Given the description of an element on the screen output the (x, y) to click on. 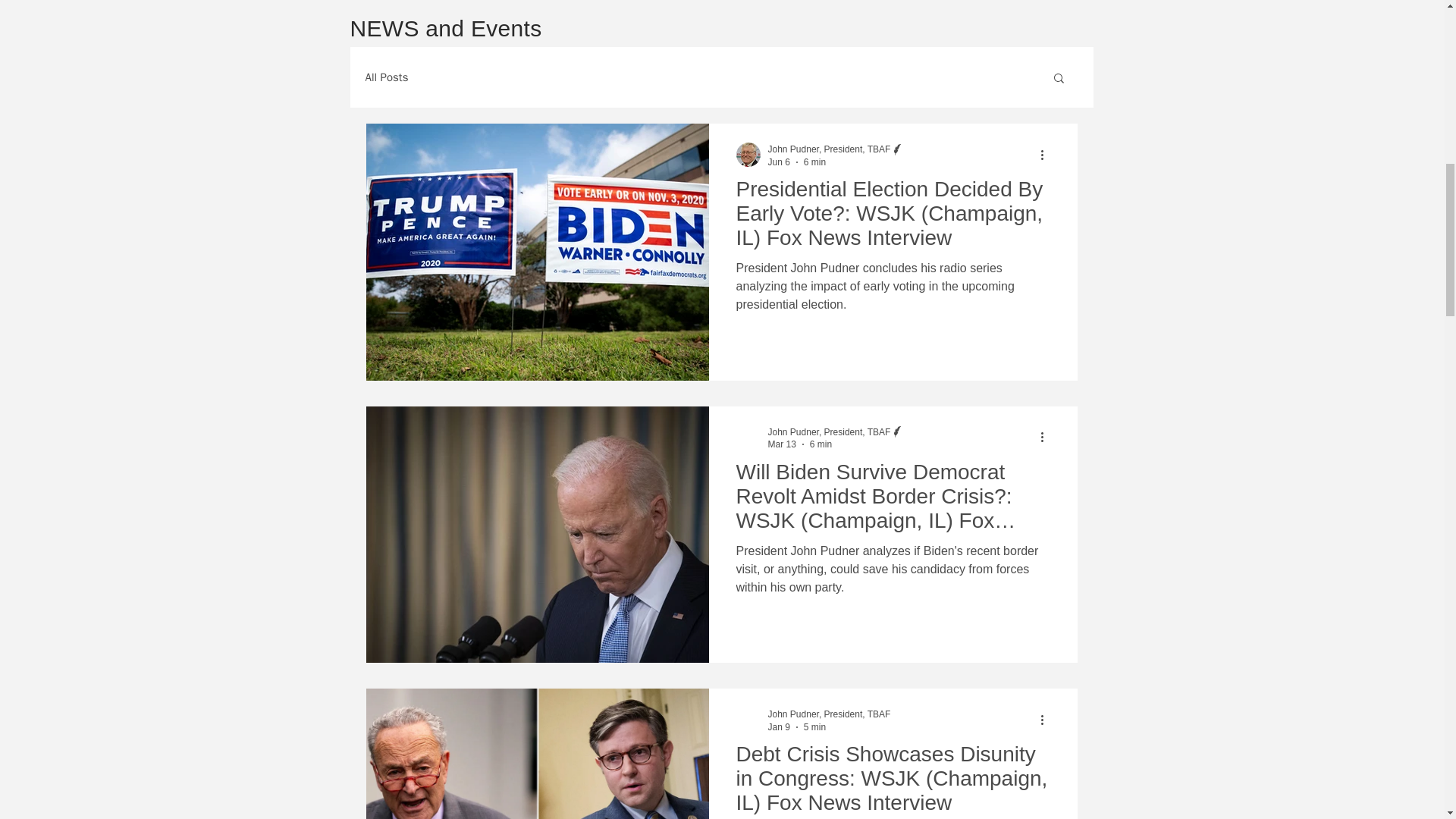
John Pudner, President, TBAF (828, 431)
Jan 9 (778, 726)
John Pudner, President, TBAF (828, 149)
5 min (814, 726)
John Pudner, President, TBAF (828, 714)
Mar 13 (780, 443)
John Pudner, President, TBAF (835, 149)
6 min (820, 443)
Jun 6 (778, 162)
John Pudner, President, TBAF (828, 714)
6 min (814, 162)
All Posts (387, 77)
John Pudner, President, TBAF (835, 431)
